Given the description of an element on the screen output the (x, y) to click on. 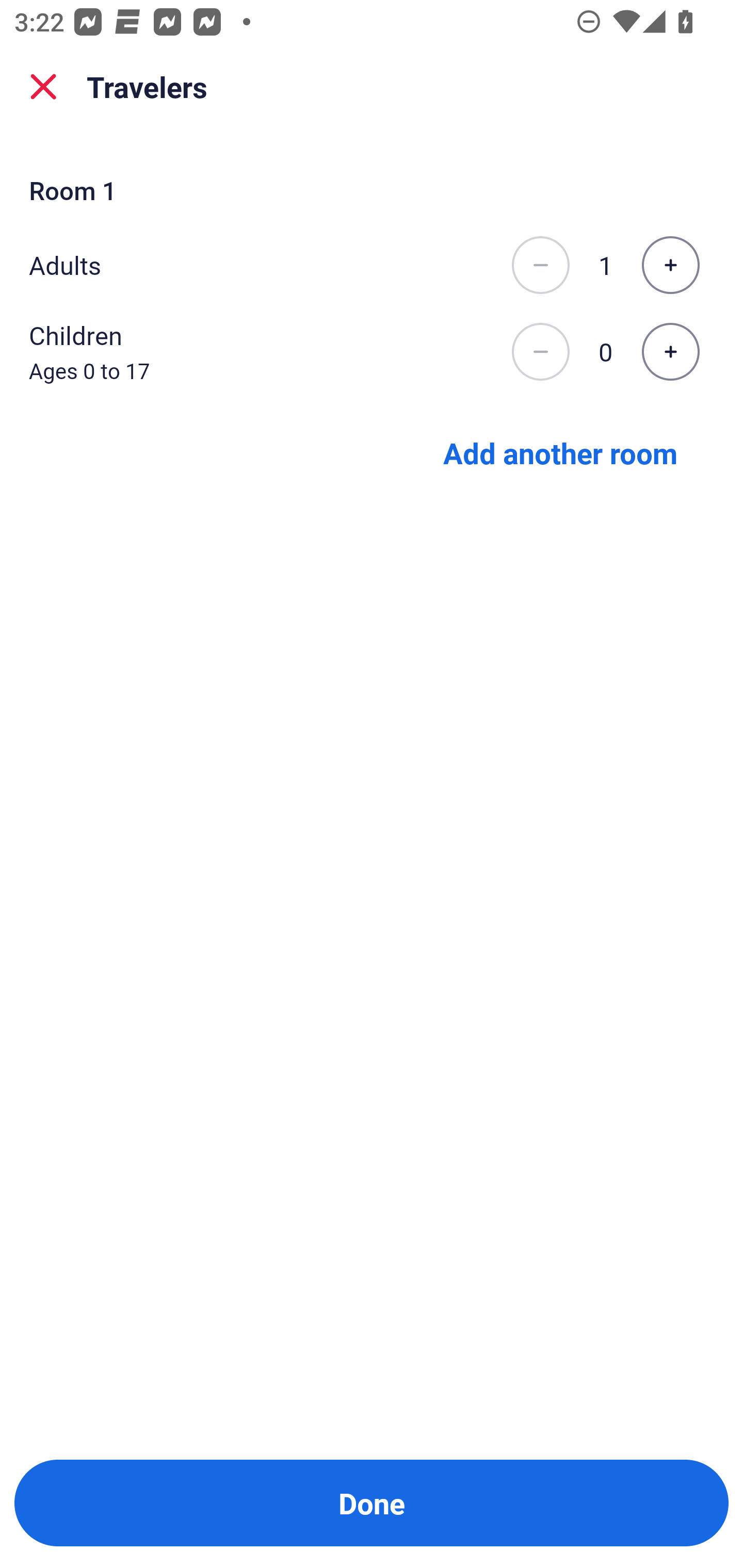
close (43, 86)
Decrease the number of adults (540, 264)
Increase the number of adults (670, 264)
Decrease the number of children (540, 351)
Increase the number of children (670, 351)
Add another room (560, 452)
Done (371, 1502)
